Given the description of an element on the screen output the (x, y) to click on. 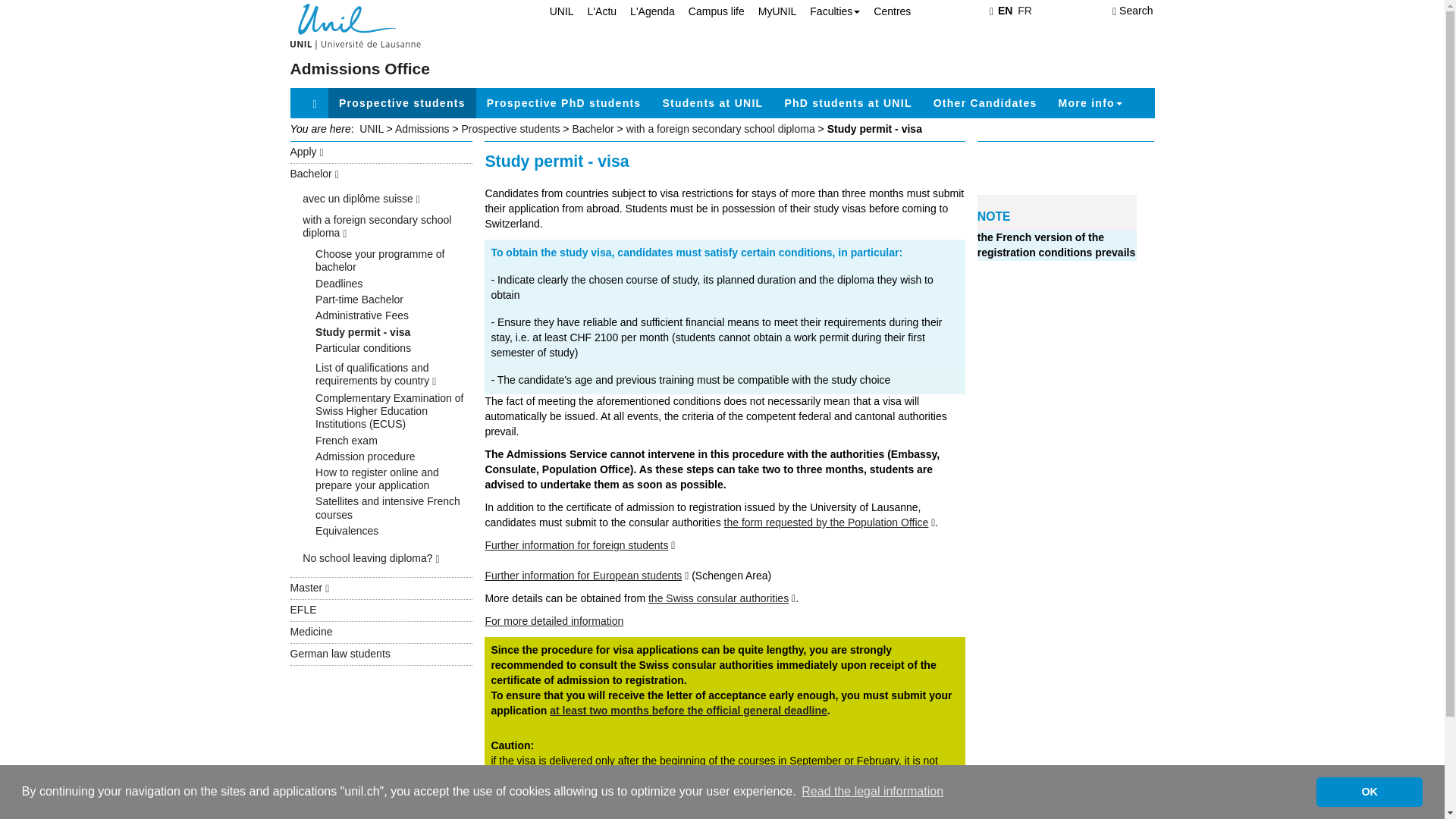
Admissions Office (359, 67)
Centres (885, 10)
Prospective students (402, 102)
L'Actu (594, 10)
MyUNIL (770, 10)
PhD students at UNIL (847, 102)
Students at UNIL (711, 102)
Read the legal information (871, 791)
UNIL (554, 10)
FR (1024, 10)
